Given the description of an element on the screen output the (x, y) to click on. 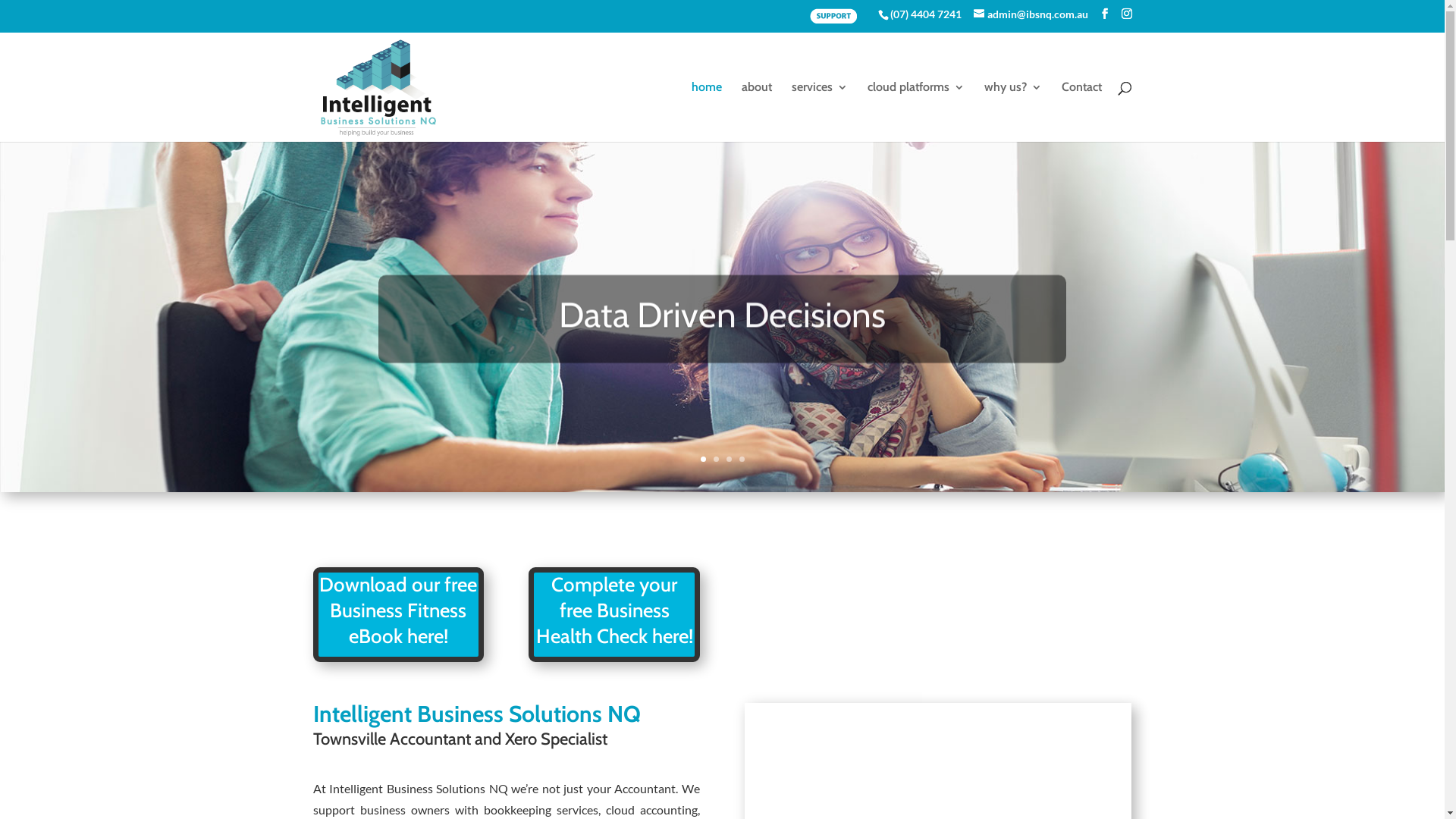
services Element type: text (819, 111)
4 Element type: text (740, 458)
Download our free Business Fitness eBook here! Element type: text (397, 610)
Complete your free Business Health Check here! Element type: text (614, 610)
1 Element type: text (703, 458)
2 Element type: text (715, 458)
home Element type: text (706, 111)
cloud platforms Element type: text (915, 111)
admin@ibsnq.com.au Element type: text (1030, 13)
3 Element type: text (728, 458)
about Element type: text (756, 111)
why us? Element type: text (1012, 111)
Contact Element type: text (1081, 111)
